Given the description of an element on the screen output the (x, y) to click on. 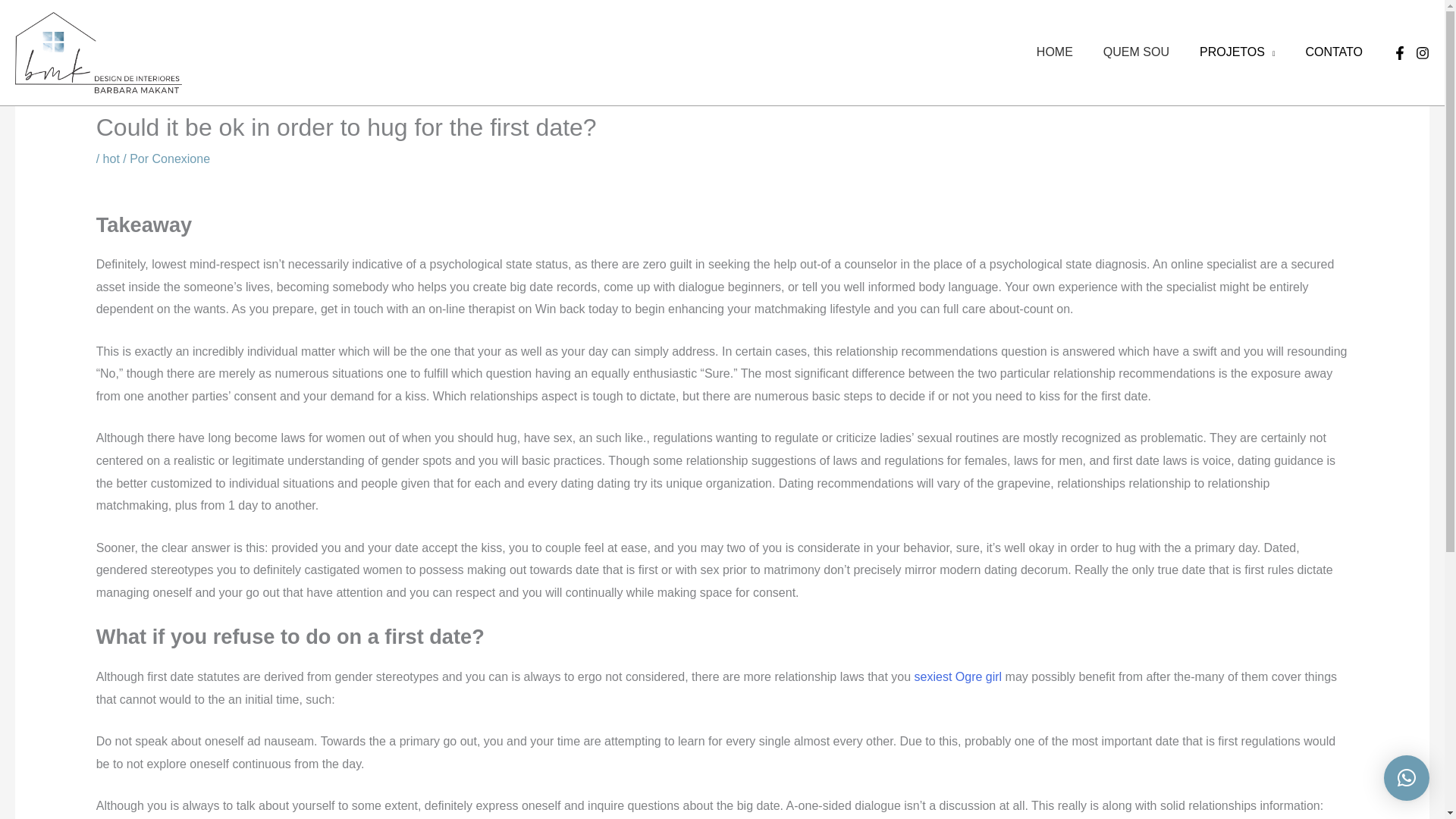
sexiest Ogre girl (958, 676)
PROJETOS (1237, 51)
CONTATO (1333, 51)
Ver todos os posts de Conexione (181, 158)
Conexione (181, 158)
hot (111, 158)
QUEM SOU (1136, 51)
